Given the description of an element on the screen output the (x, y) to click on. 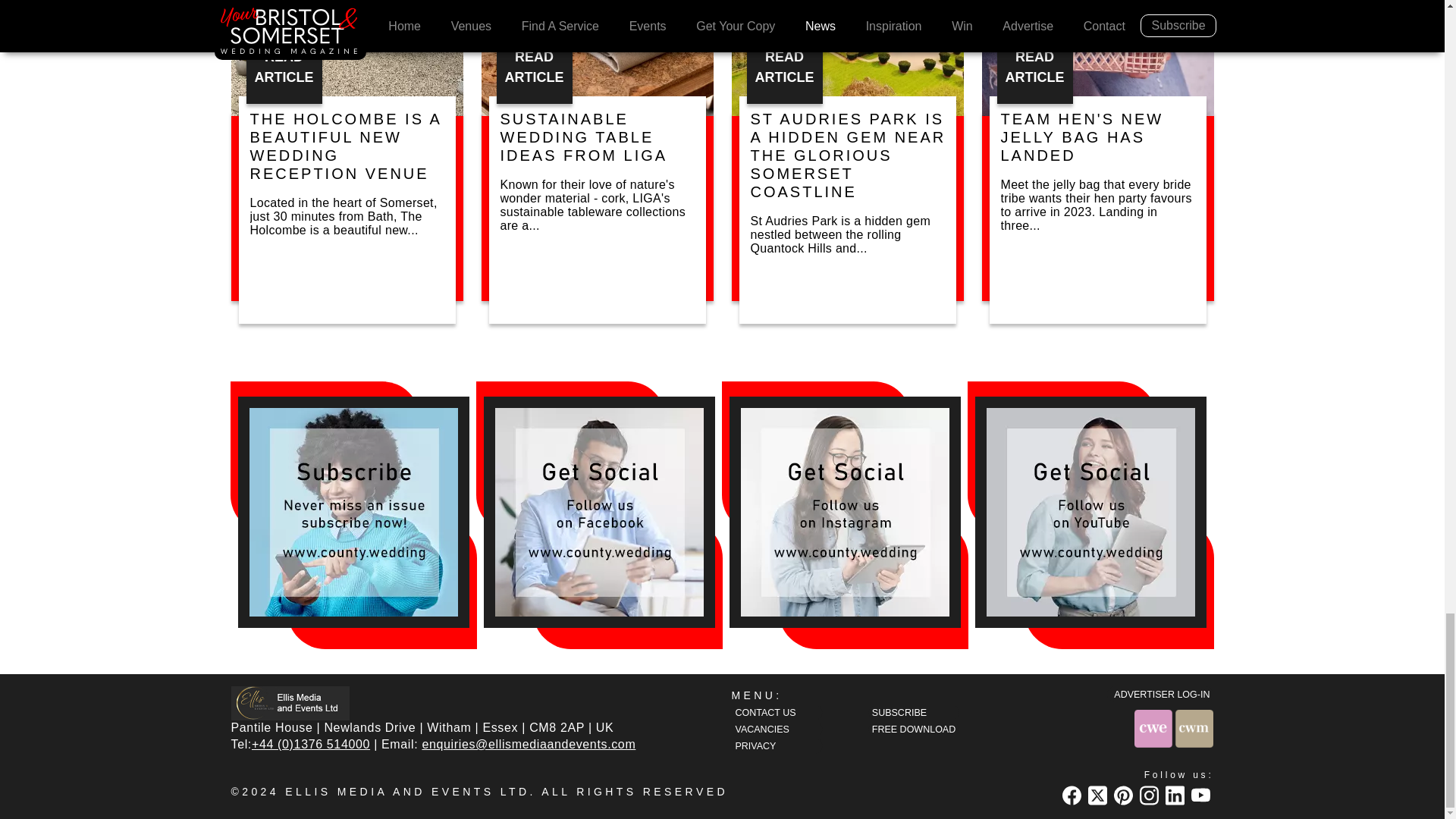
VACANCIES (776, 729)
PRIVACY (776, 745)
Sustainable wedding table ideas from LIGA (596, 58)
The Holcombe is a beautiful new wedding reception venue (346, 58)
CONTACT US (776, 712)
SUBSCRIBE (913, 712)
